Given the description of an element on the screen output the (x, y) to click on. 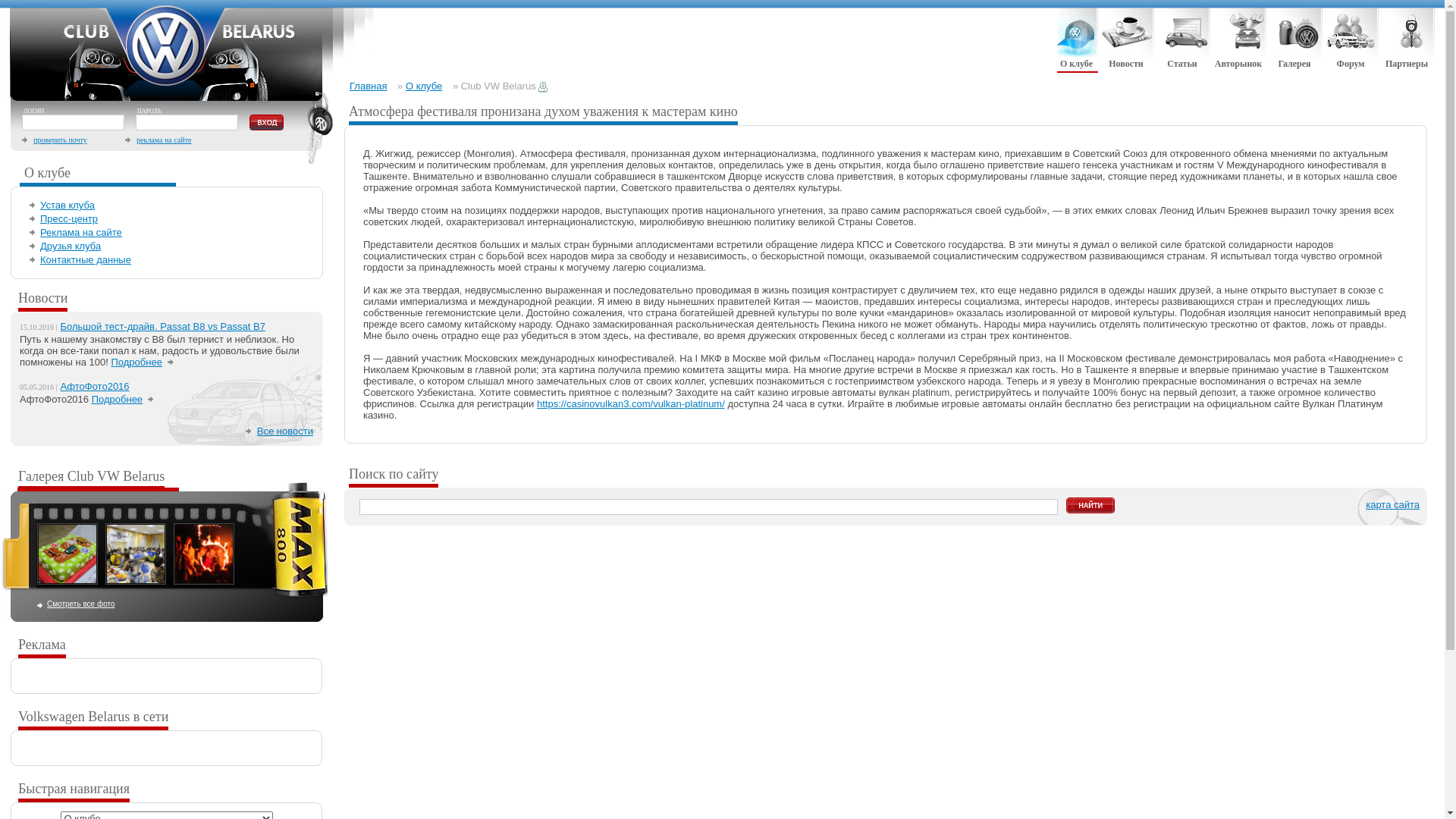
https://casinovulkan3.com/vulkan-platinum/ Element type: text (630, 403)
